Given the description of an element on the screen output the (x, y) to click on. 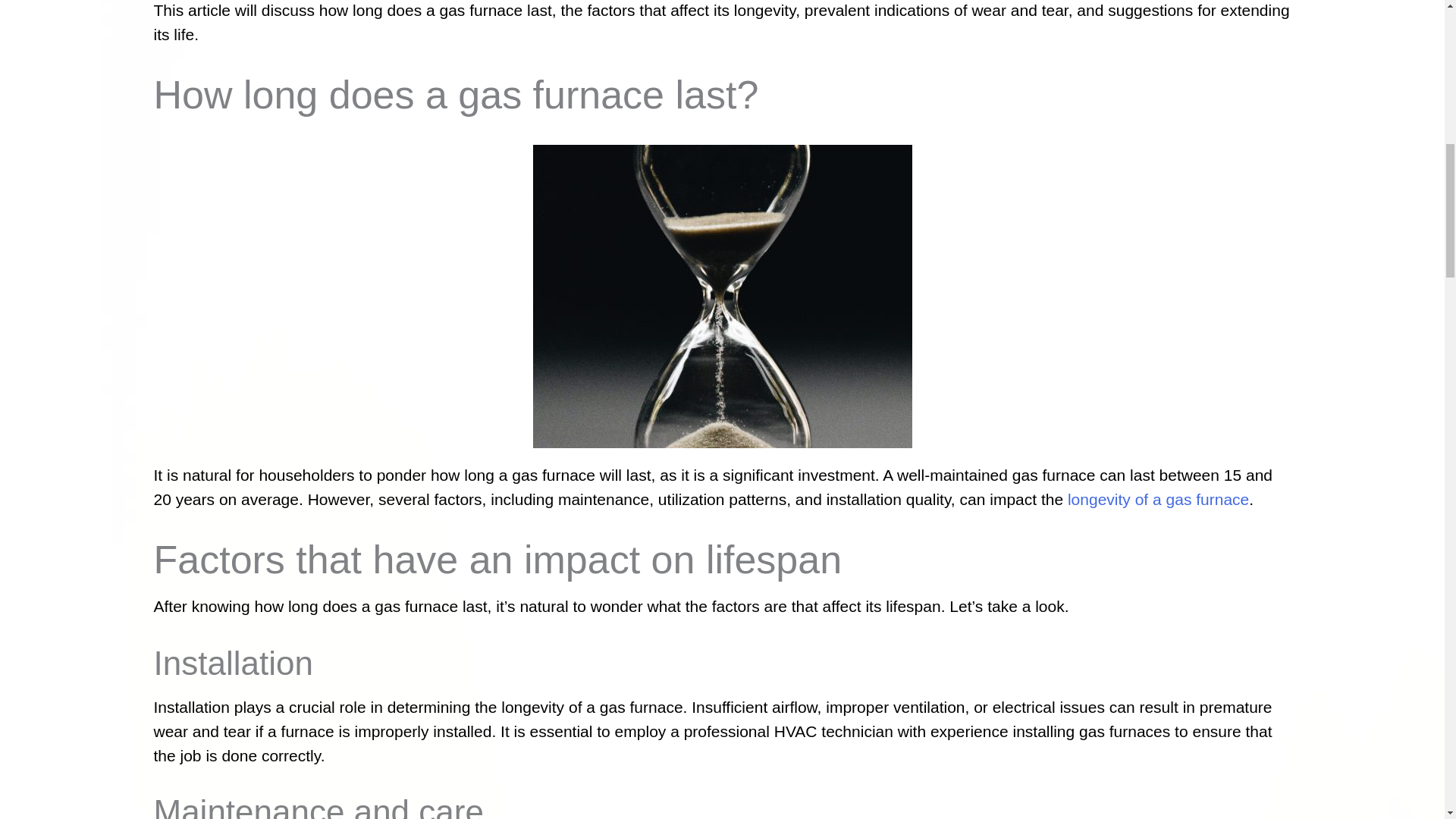
nathan-dumlao-5Hl5reICevY-unsplash (721, 295)
